Given the description of an element on the screen output the (x, y) to click on. 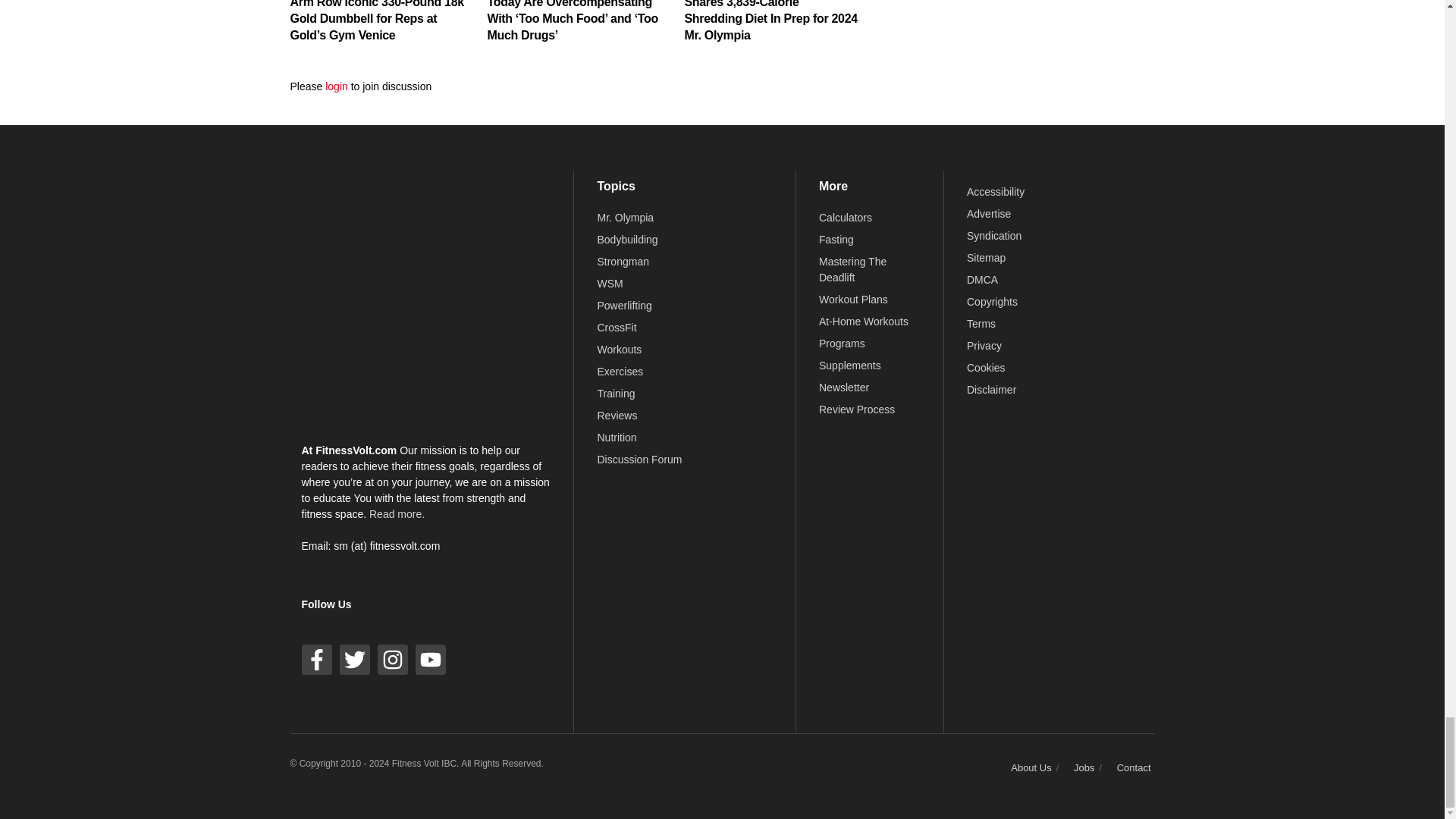
2019 Mr. Olympia News (624, 217)
Read more about Fitness Volt (397, 513)
Accessibility Conformance Status (995, 191)
